Given the description of an element on the screen output the (x, y) to click on. 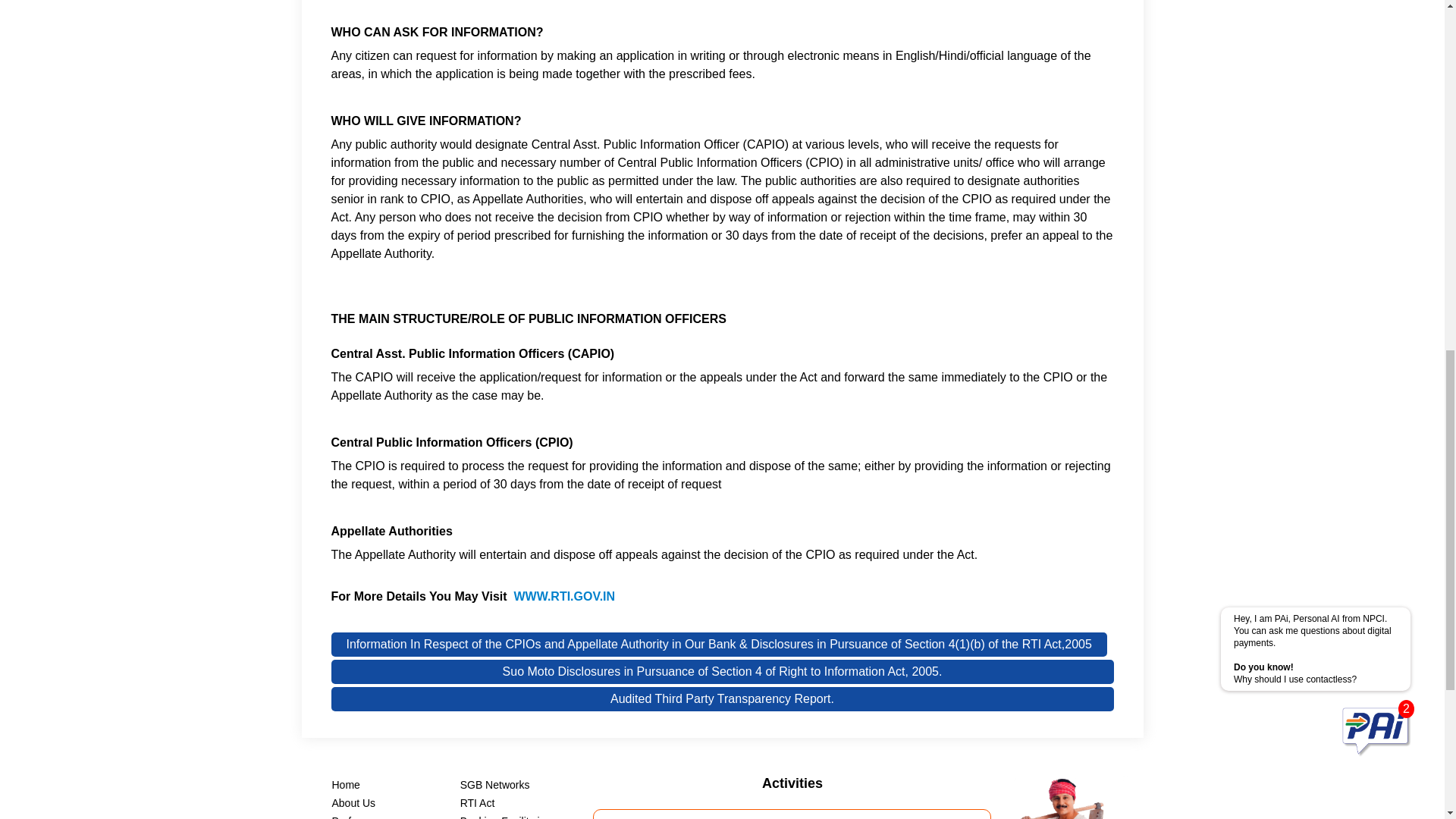
Performance (362, 816)
About Us (353, 802)
Audited Third Party Transparency Report. (721, 699)
RTI Act (477, 802)
Home (345, 784)
Banking Facility in Village (503, 816)
SGB Networks (494, 784)
WWW.RTI.GOV.IN (563, 595)
